Given the description of an element on the screen output the (x, y) to click on. 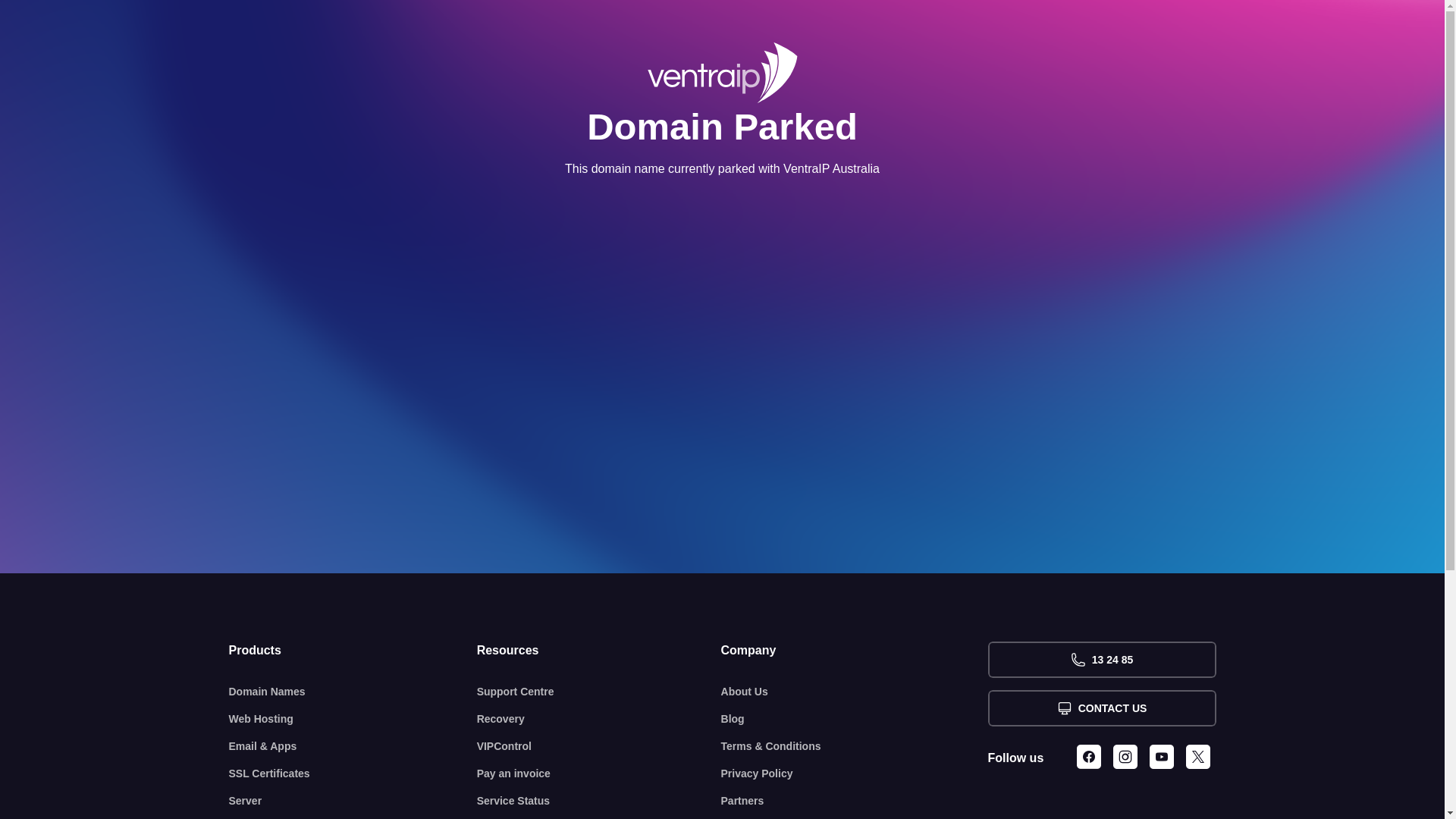
Domain Names Element type: text (352, 691)
Server Element type: text (352, 800)
Service Status Element type: text (598, 800)
CONTACT US Element type: text (1101, 708)
Pay an invoice Element type: text (598, 773)
Recovery Element type: text (598, 718)
Email & Apps Element type: text (352, 745)
Privacy Policy Element type: text (854, 773)
13 24 85 Element type: text (1101, 659)
Blog Element type: text (854, 718)
About Us Element type: text (854, 691)
Terms & Conditions Element type: text (854, 745)
SSL Certificates Element type: text (352, 773)
Partners Element type: text (854, 800)
Support Centre Element type: text (598, 691)
Web Hosting Element type: text (352, 718)
VIPControl Element type: text (598, 745)
